Given the description of an element on the screen output the (x, y) to click on. 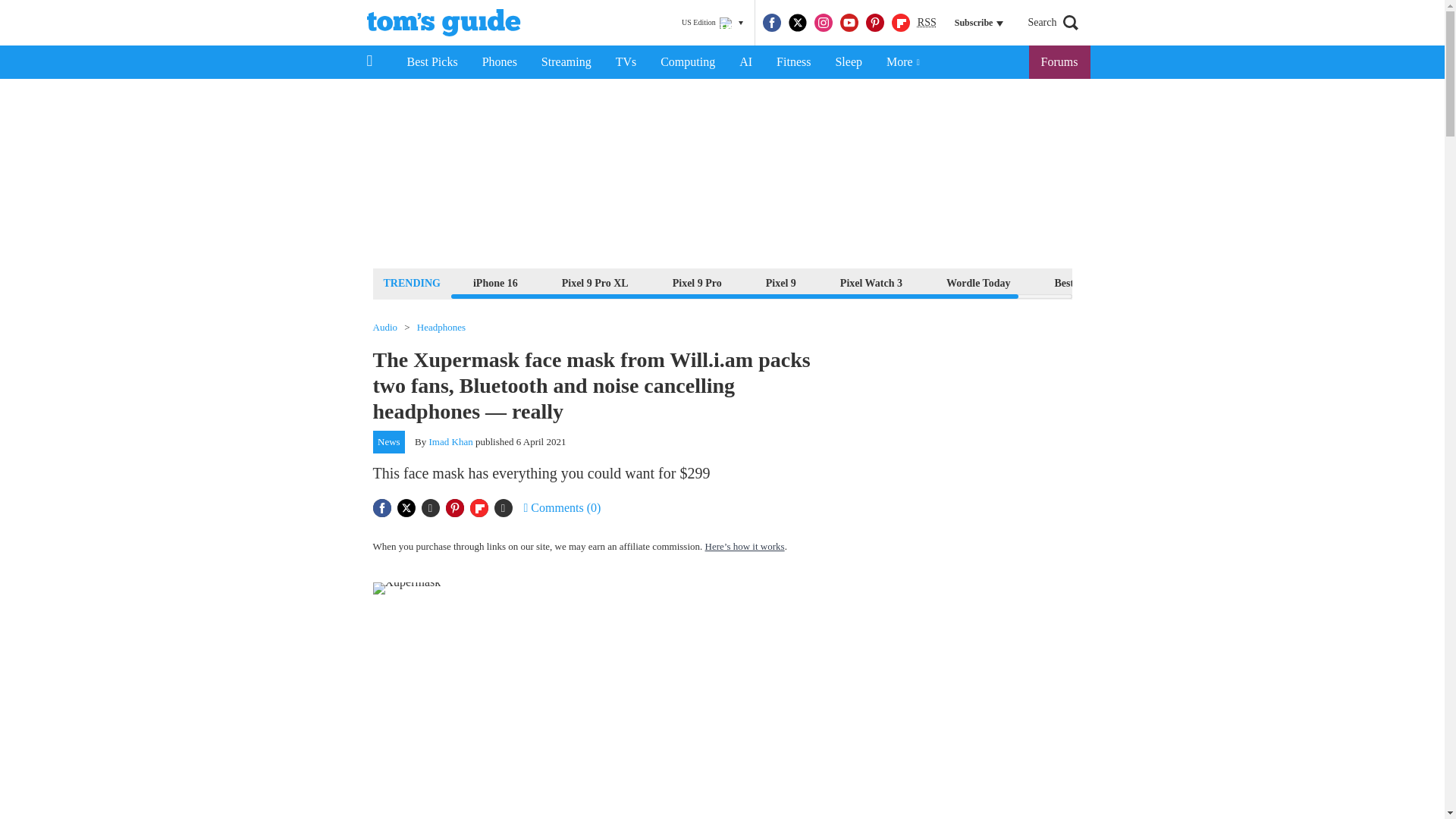
AI (745, 61)
Streaming (566, 61)
RSS (926, 22)
Sleep (848, 61)
TVs (626, 61)
Phones (499, 61)
Computing (686, 61)
Best Picks (431, 61)
Really Simple Syndication (926, 21)
Fitness (793, 61)
